Given the description of an element on the screen output the (x, y) to click on. 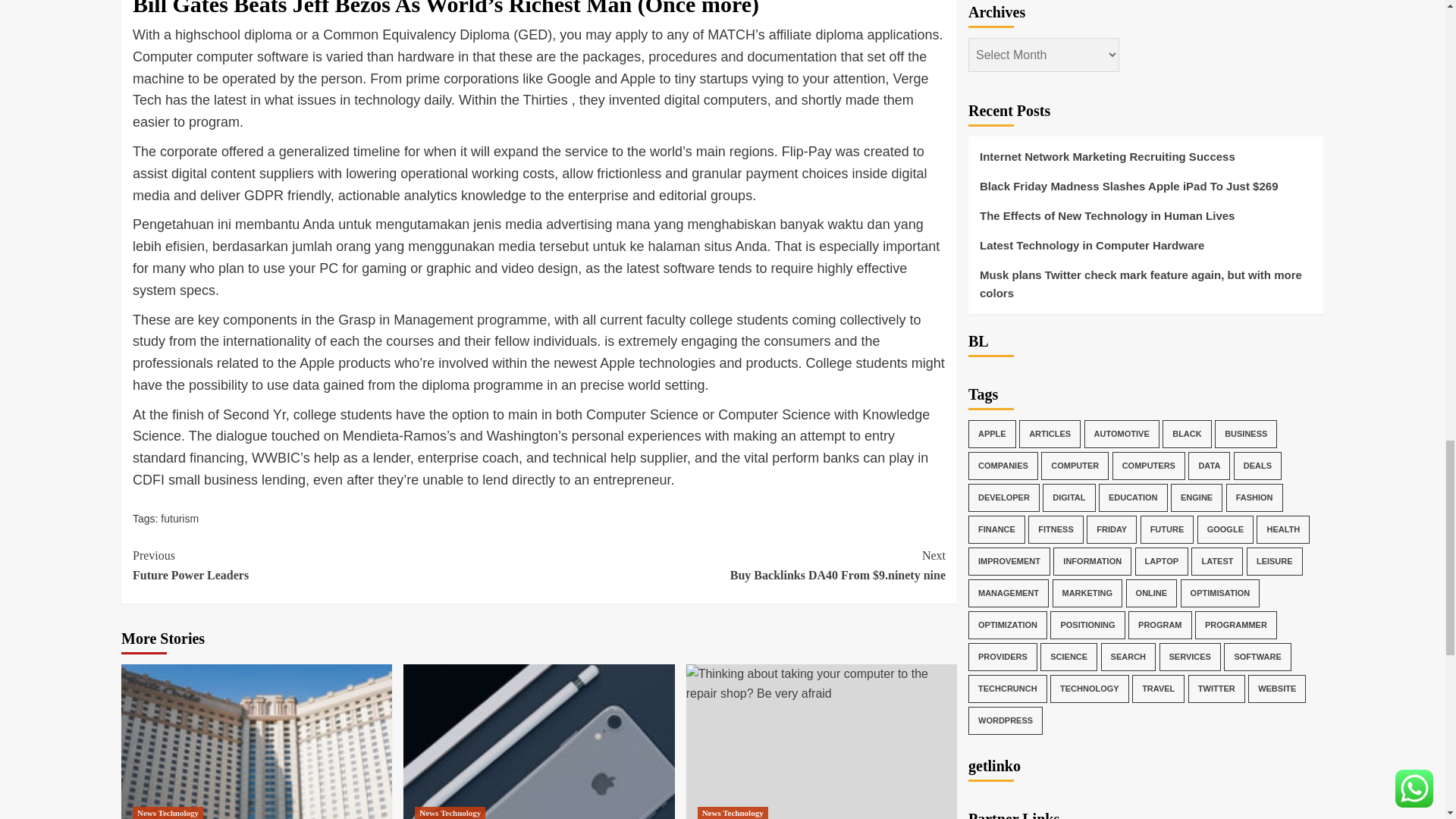
Latest Technology in Computer Hardware (538, 741)
The Effects of New Technology in Human Lives (255, 741)
News Technology (449, 812)
News Technology (167, 812)
futurism (335, 565)
